Given the description of an element on the screen output the (x, y) to click on. 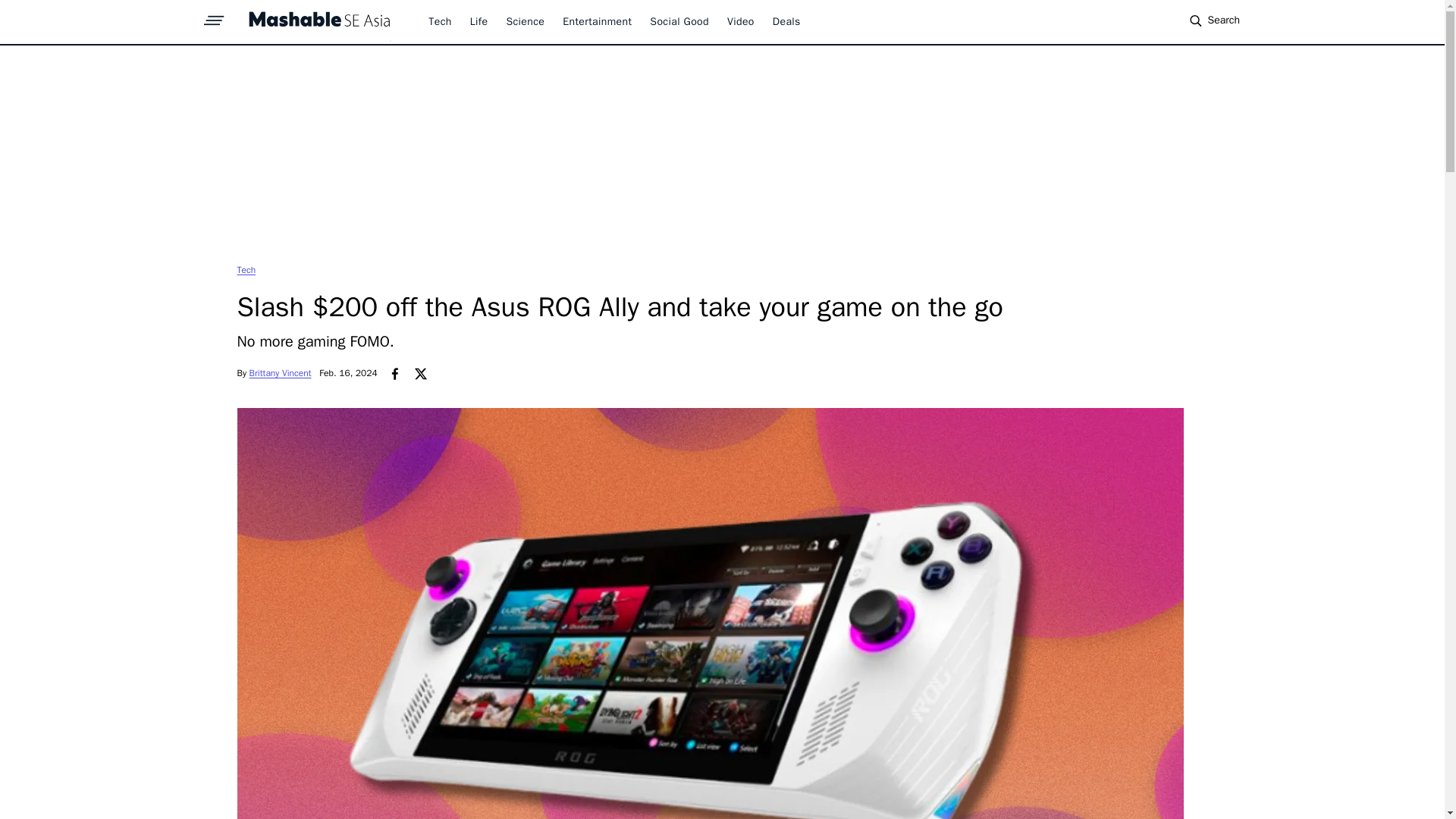
Tech (245, 269)
Entertainment (596, 21)
Science (524, 21)
Life (478, 21)
Deals (786, 21)
Tech (439, 21)
Brittany Vincent (279, 372)
Social Good (679, 21)
Tech (245, 269)
Video (740, 21)
sprite-hamburger (213, 16)
